Given the description of an element on the screen output the (x, y) to click on. 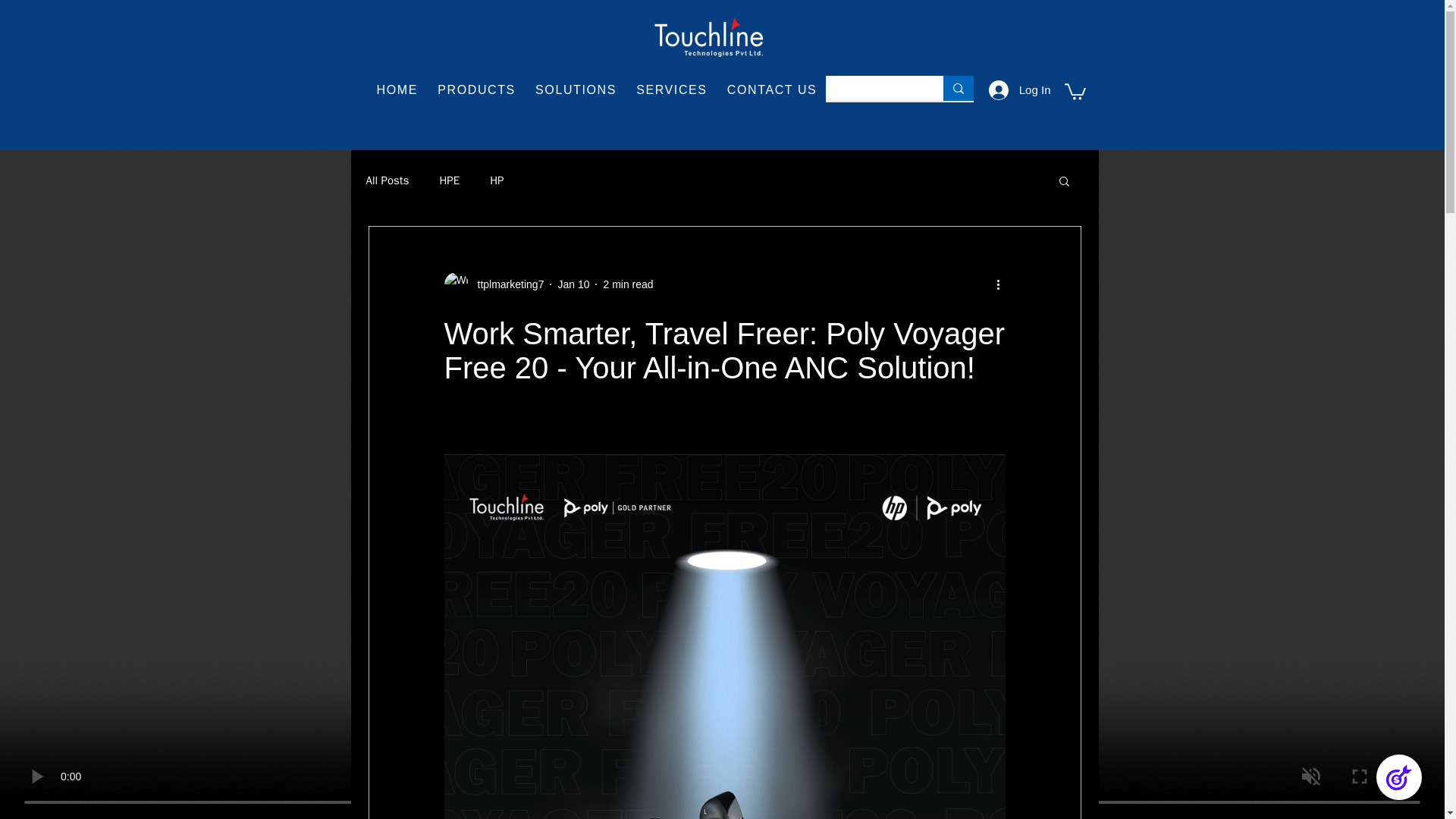
All Posts (387, 179)
ttplmarketing7 (506, 283)
Log In (1019, 90)
Jan 10 (573, 283)
CONTACT US (772, 90)
ttplmarketing7 (494, 283)
2 min read (627, 283)
HPE (449, 179)
SERVICES (671, 90)
HP (496, 179)
SOLUTIONS (595, 90)
PRODUCTS (575, 90)
